Given the description of an element on the screen output the (x, y) to click on. 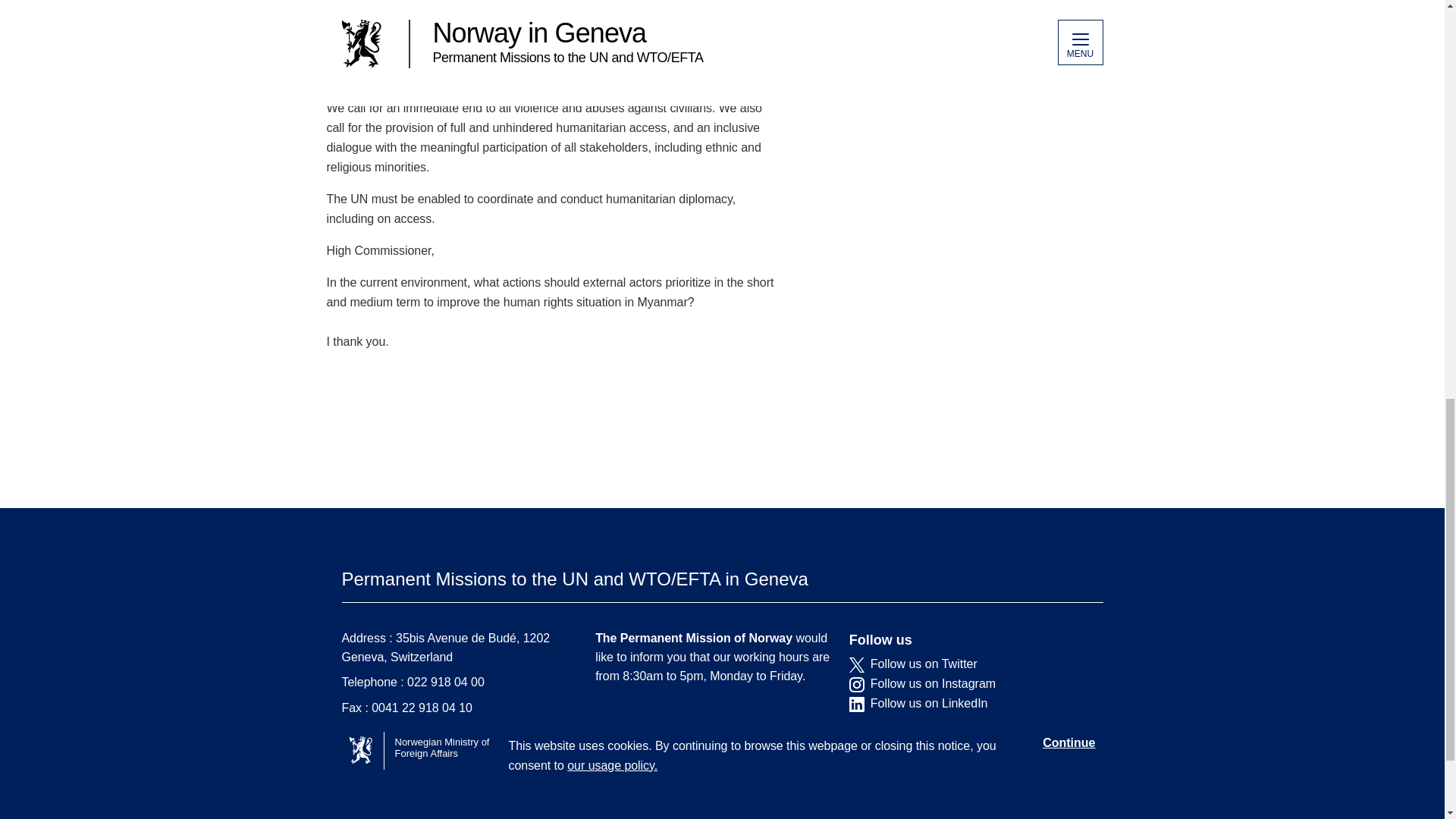
Follow us on Instagram (964, 684)
Follow us on LinkedIn (964, 703)
Follow us on Twitter (964, 663)
